Given the description of an element on the screen output the (x, y) to click on. 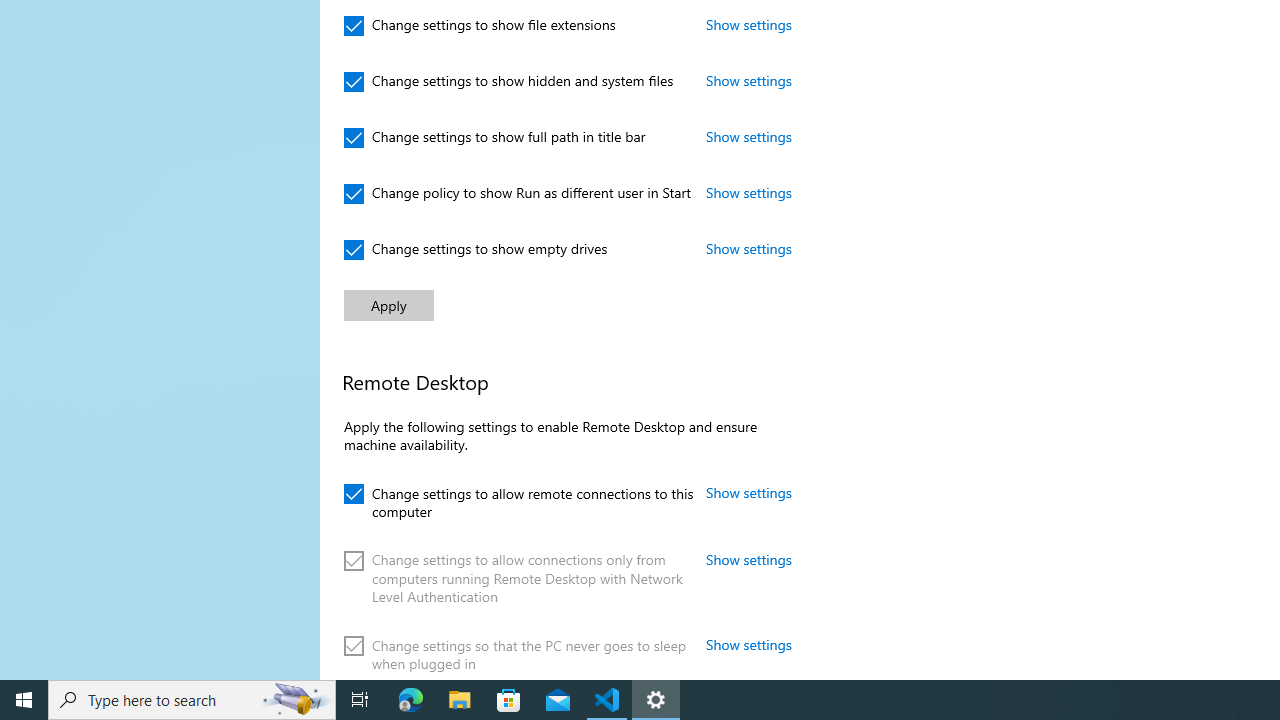
Change settings to show hidden and system files (509, 81)
Change policy to show Run as different user in Start (517, 193)
Change settings to show full path in title bar (495, 137)
Change settings to show empty drives (476, 249)
